Given the description of an element on the screen output the (x, y) to click on. 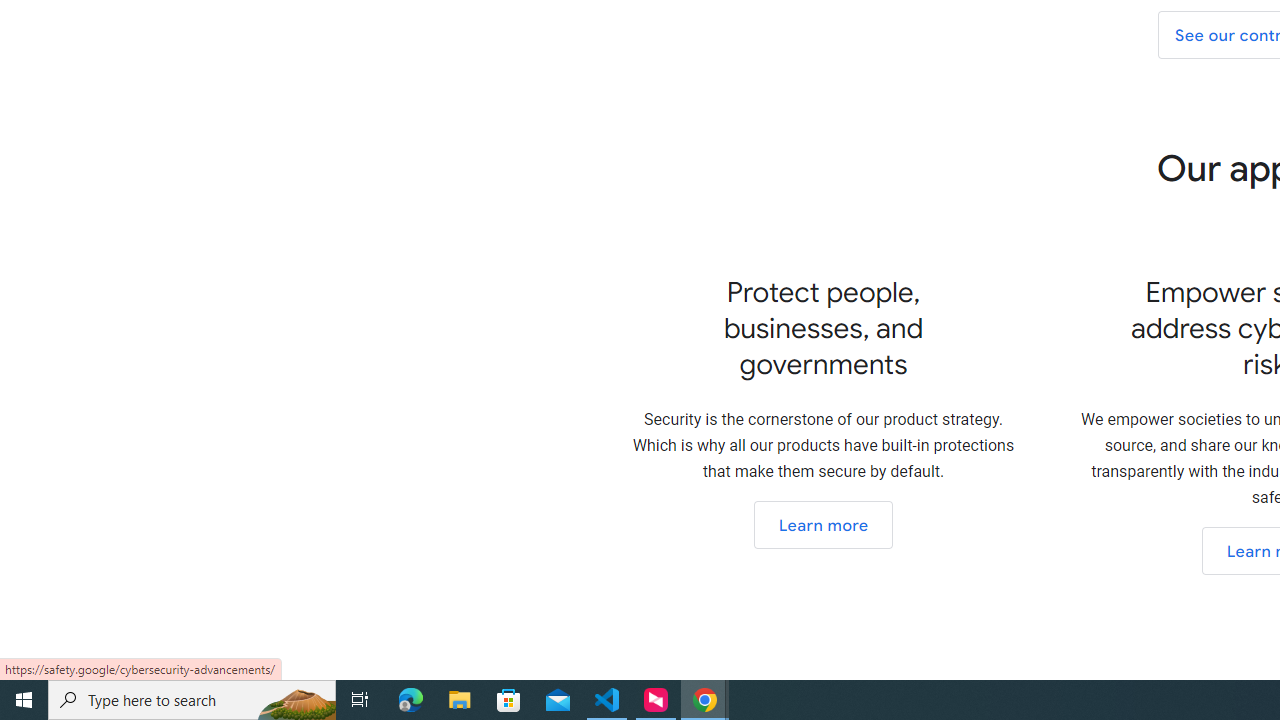
Go to our Safety section (822, 524)
